Given the description of an element on the screen output the (x, y) to click on. 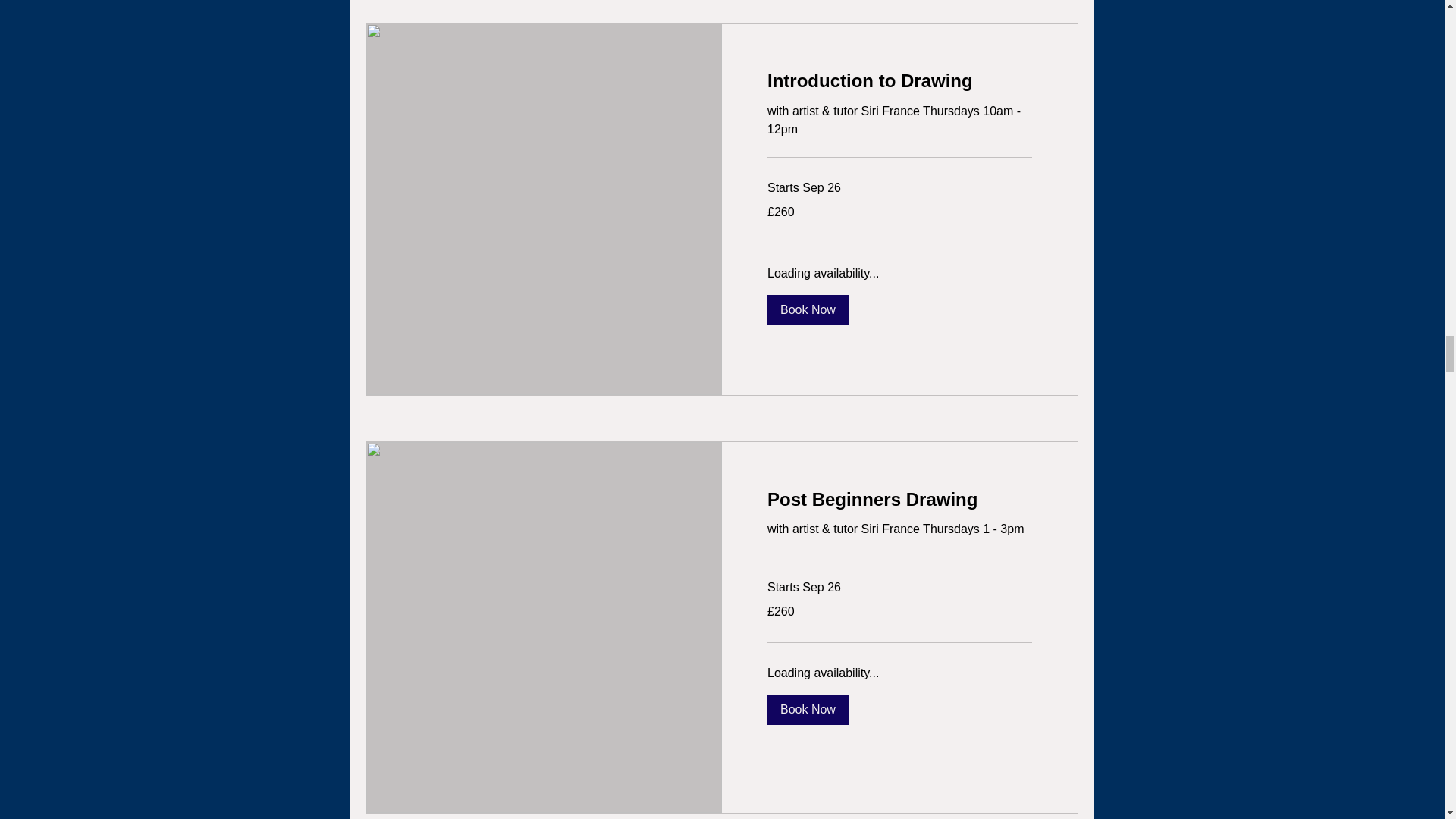
Introduction to Drawing (899, 79)
